Given the description of an element on the screen output the (x, y) to click on. 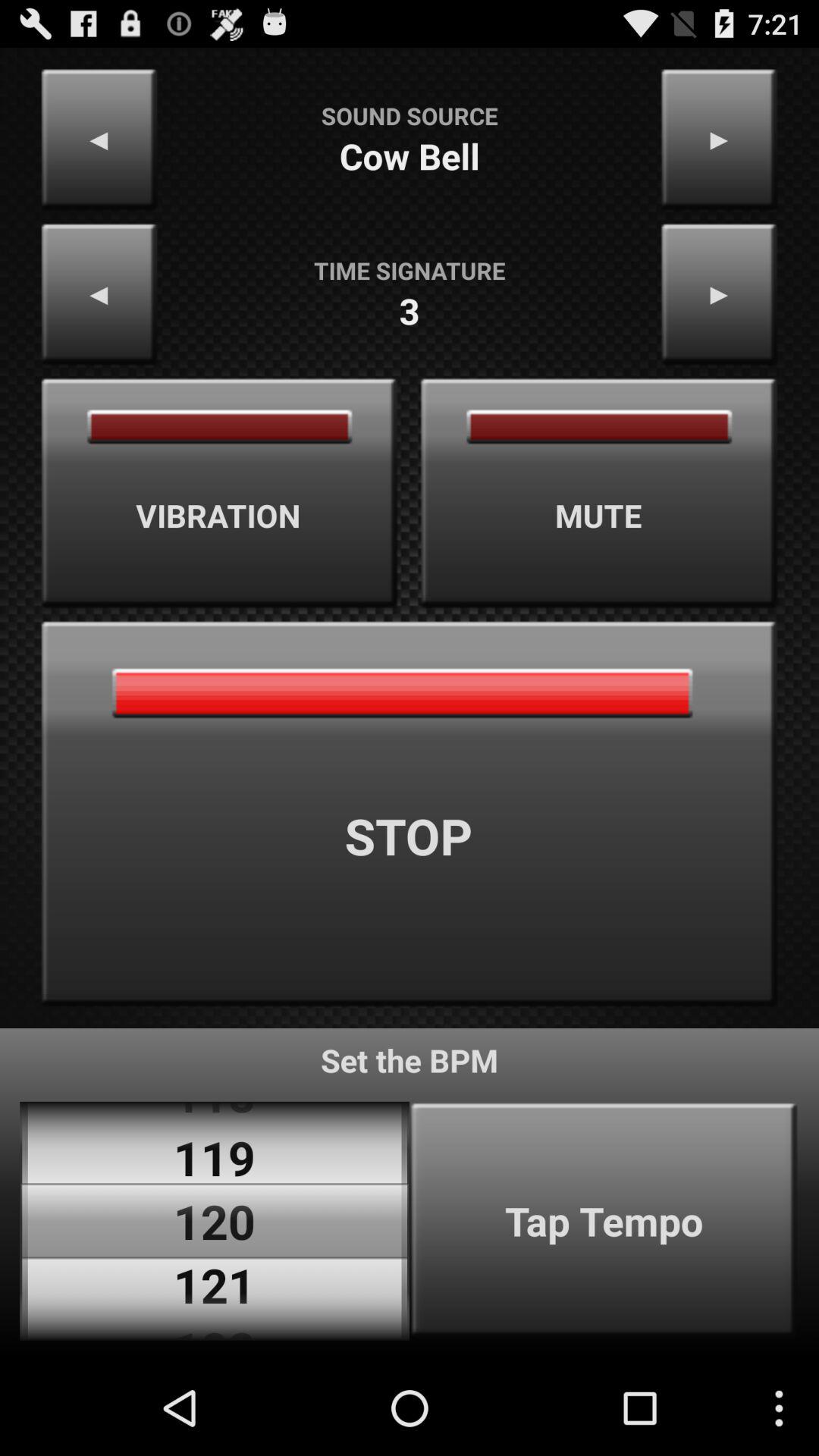
flip to the vibration icon (219, 493)
